Given the description of an element on the screen output the (x, y) to click on. 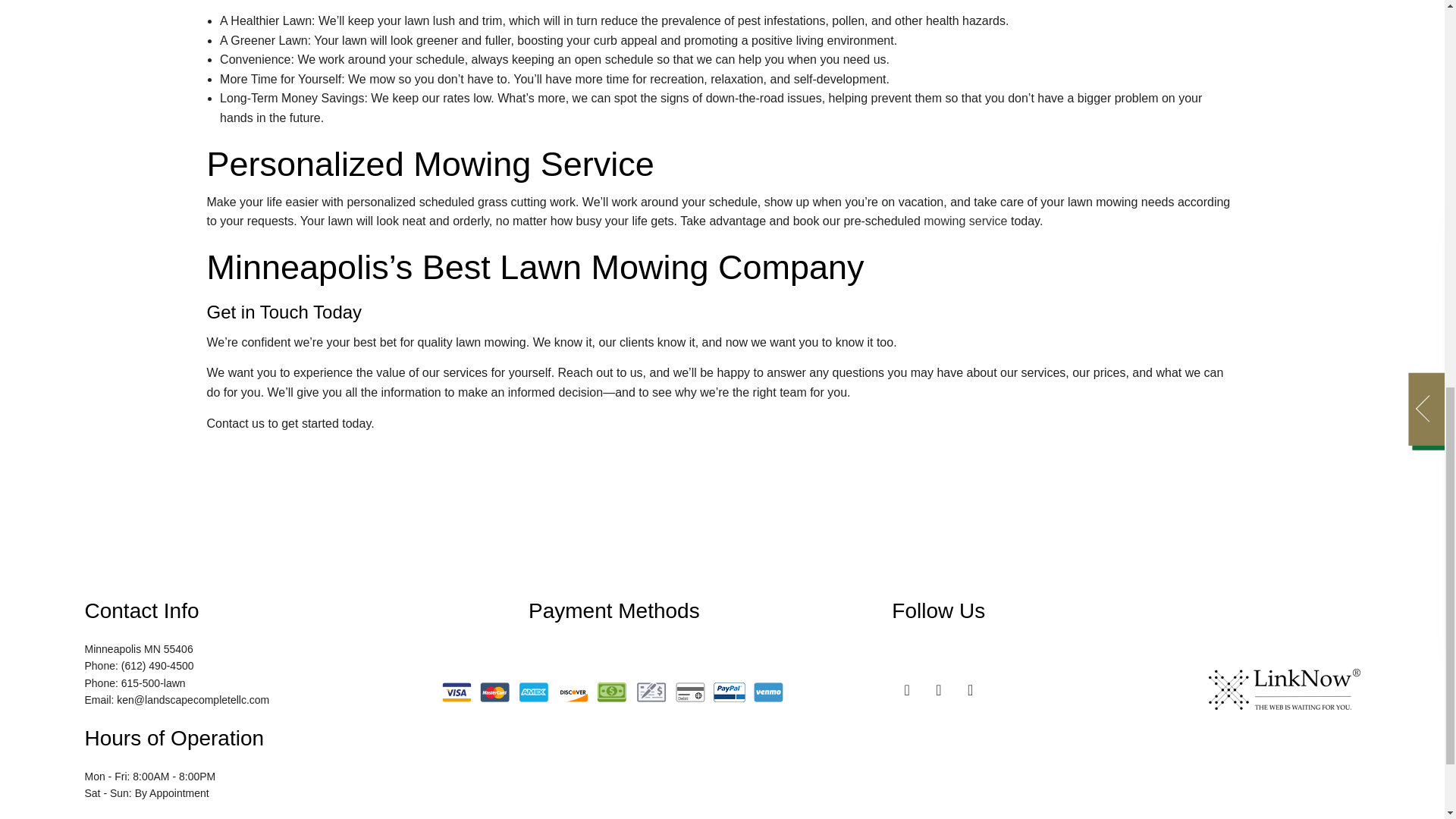
Discover (573, 691)
Cash (611, 691)
Debit Card (690, 691)
American Express (534, 691)
Venmo (768, 691)
Check (650, 691)
Mastercard (495, 691)
Visa (456, 691)
Landscaping Company (965, 220)
PayPal (729, 691)
